Given the description of an element on the screen output the (x, y) to click on. 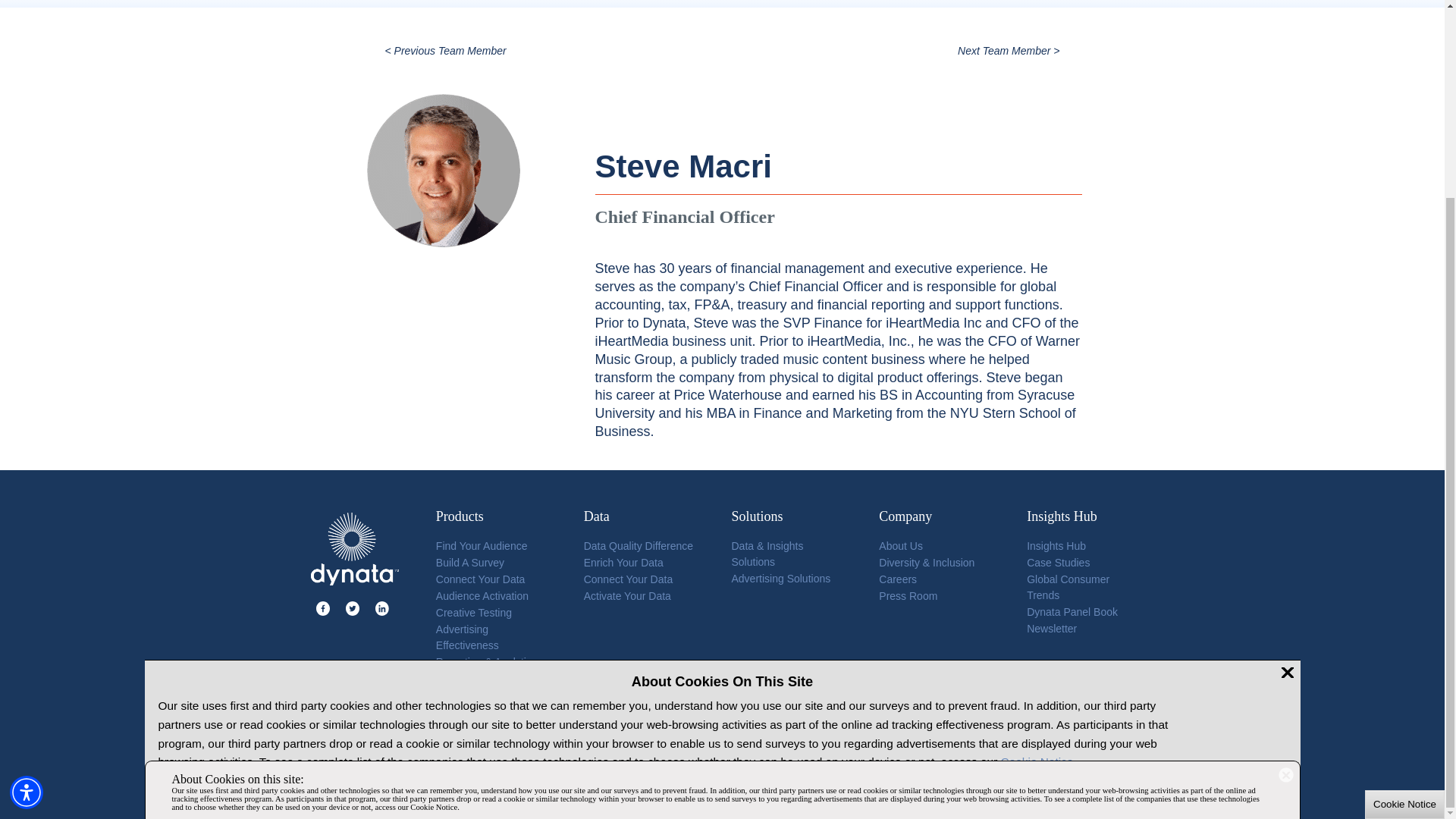
Accessibility Menu (26, 541)
Brad Brockhaug (1008, 50)
Mike Petrullo (445, 50)
